Given the description of an element on the screen output the (x, y) to click on. 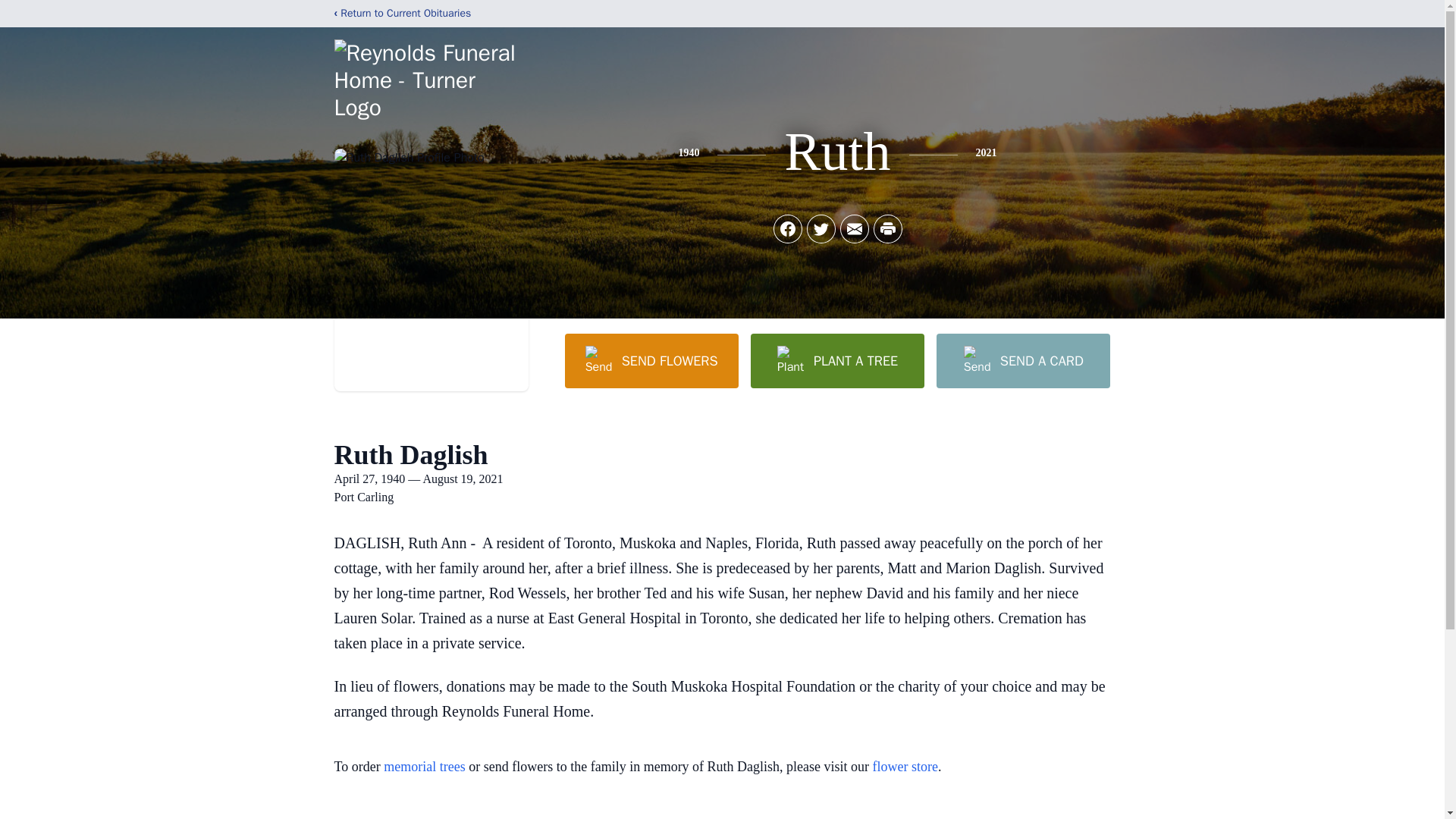
memorial trees (424, 766)
PLANT A TREE (837, 360)
flower store (904, 766)
SEND FLOWERS (651, 360)
SEND A CARD (1022, 360)
